Given the description of an element on the screen output the (x, y) to click on. 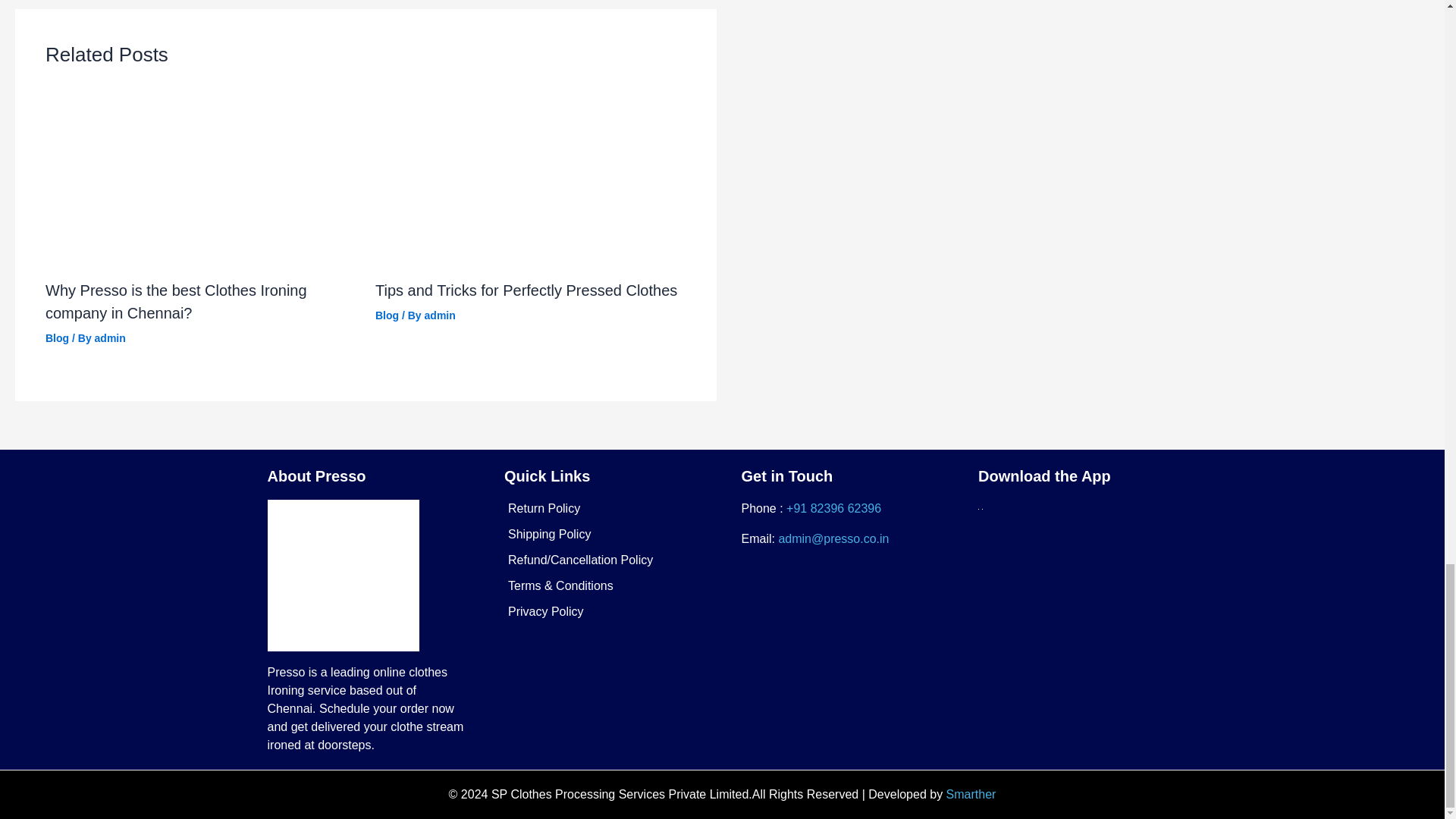
Blog (386, 315)
Presso Logo (342, 575)
admin (440, 315)
Return Policy (543, 508)
Blog (56, 337)
Smarther (970, 793)
Why Presso is the best Clothes Ironing company in Chennai? (176, 301)
Privacy Policy (545, 611)
View all posts by admin (440, 315)
Tips and Tricks for Perfectly Pressed Clothes (526, 289)
